Given the description of an element on the screen output the (x, y) to click on. 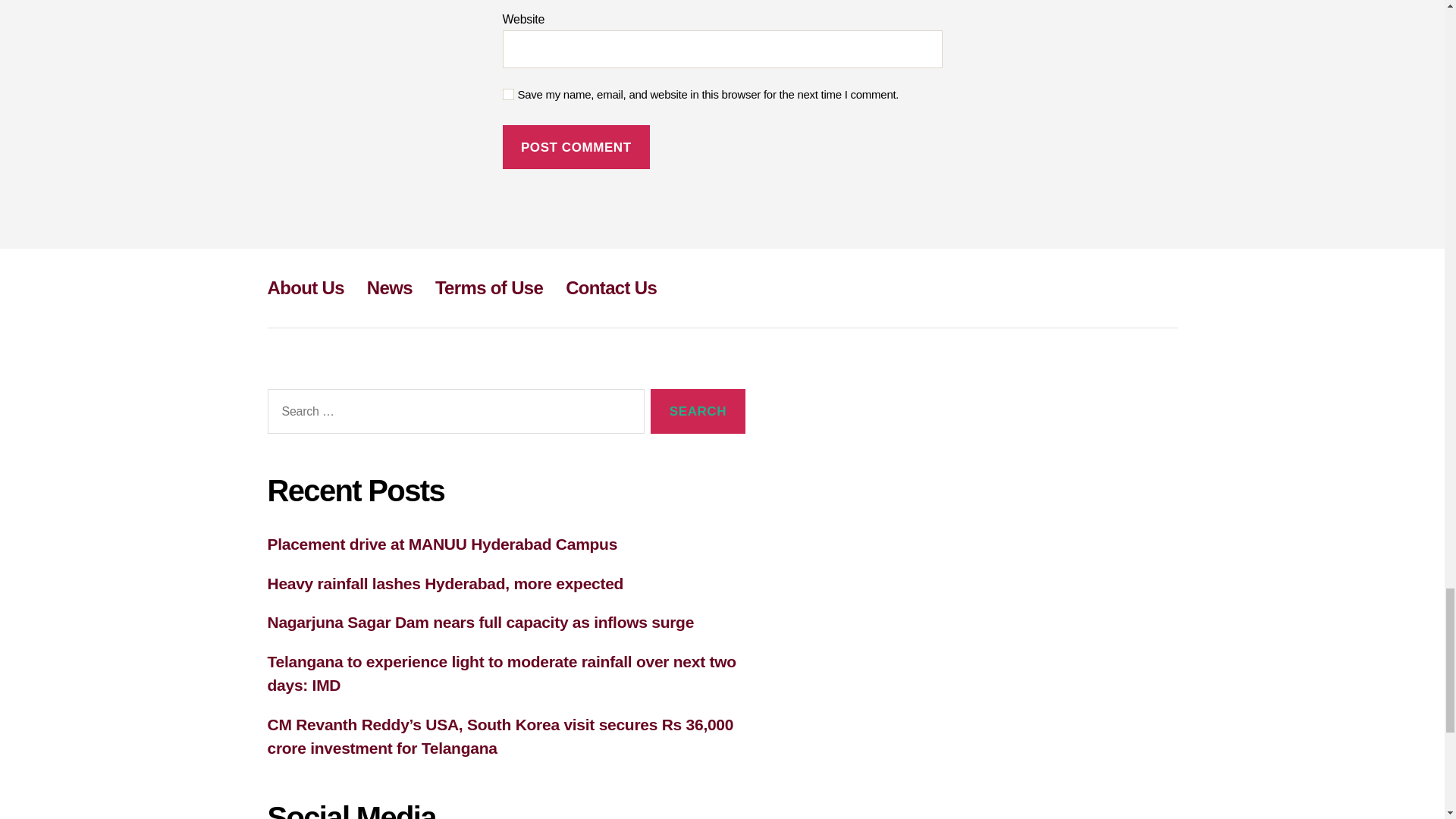
About Us (304, 287)
News (389, 287)
Post Comment (575, 147)
Terms of Use (489, 287)
Search (697, 411)
Search (697, 411)
Contact Us (611, 287)
yes (507, 93)
Post Comment (575, 147)
Placement drive at MANUU Hyderabad Campus (441, 543)
